Given the description of an element on the screen output the (x, y) to click on. 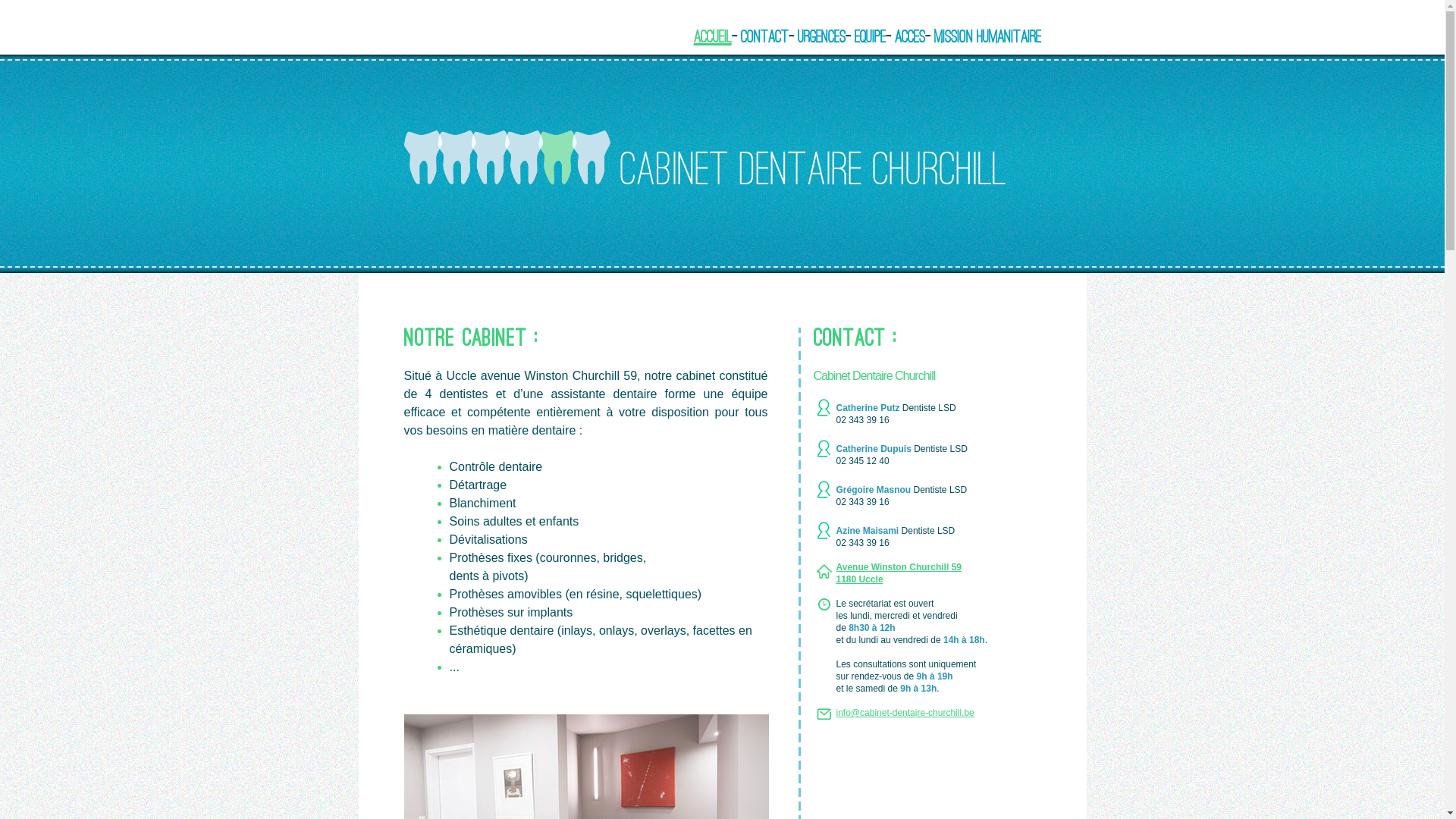
Acces Element type: text (909, 36)
Urgences Element type: text (821, 36)
info@cabinet-dentaire-churchill.be Element type: text (904, 712)
Avenue Winston Churchill 59
1180 Uccle Element type: text (897, 572)
Mission Humanitaire Element type: text (987, 36)
Contact Element type: text (763, 36)
Accueil Element type: text (712, 36)
Equipe Element type: text (868, 36)
